Given the description of an element on the screen output the (x, y) to click on. 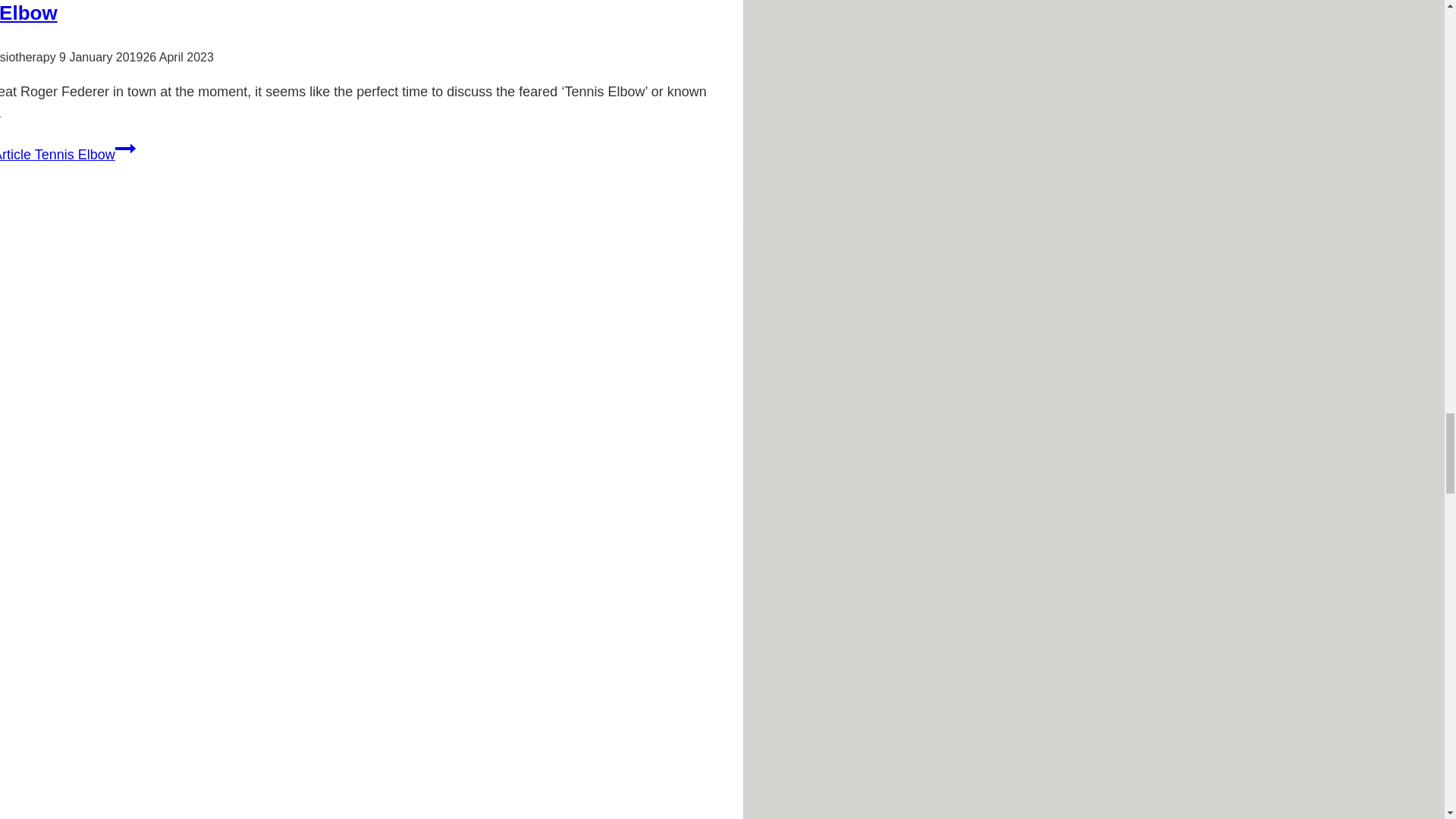
Continue (125, 148)
Read Full Article Tennis ElbowContinue (67, 154)
Tennis Elbow (29, 12)
